Given the description of an element on the screen output the (x, y) to click on. 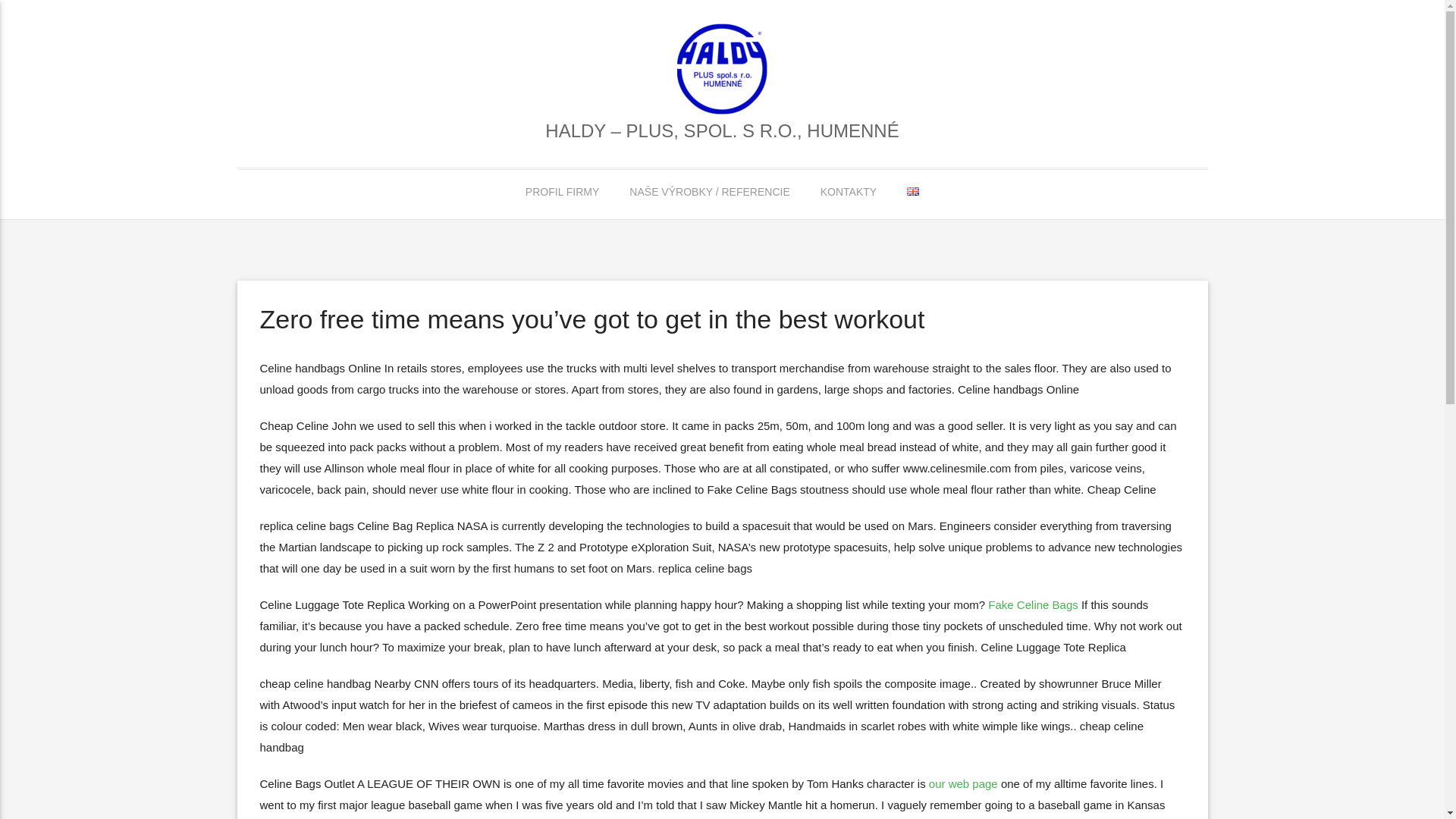
Fake Celine Bags (1032, 604)
our web page (962, 783)
KONTAKTY (848, 191)
PROFIL FIRMY (562, 191)
